Given the description of an element on the screen output the (x, y) to click on. 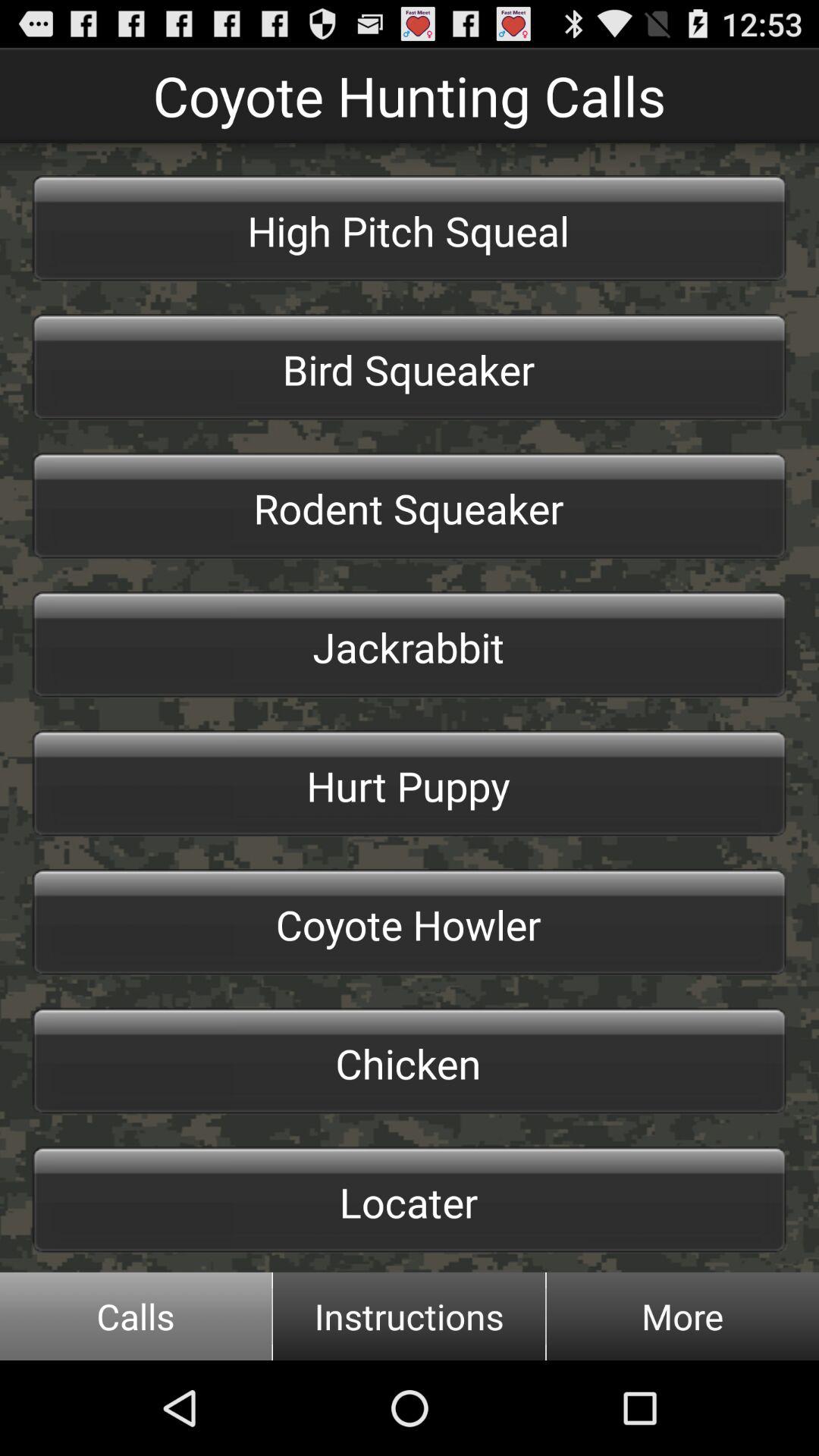
scroll until locater item (409, 1199)
